Given the description of an element on the screen output the (x, y) to click on. 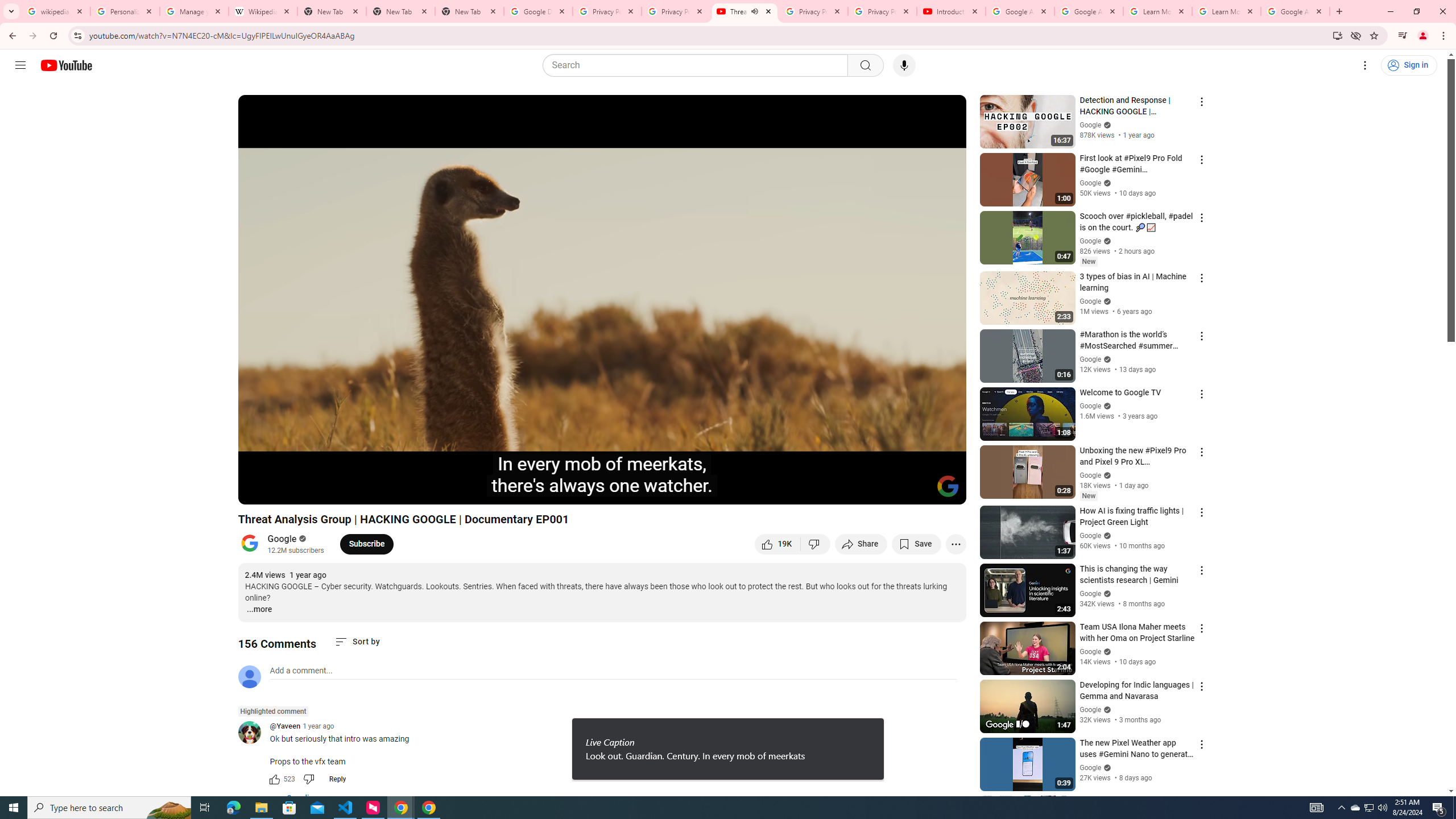
Install YouTube (1336, 35)
Personalization & Google Search results - Google Search Help (124, 11)
Introduction | Google Privacy Policy - YouTube (950, 11)
YouTube Home (66, 65)
Seek slider (601, 476)
Google Account (1295, 11)
More actions (955, 543)
